Given the description of an element on the screen output the (x, y) to click on. 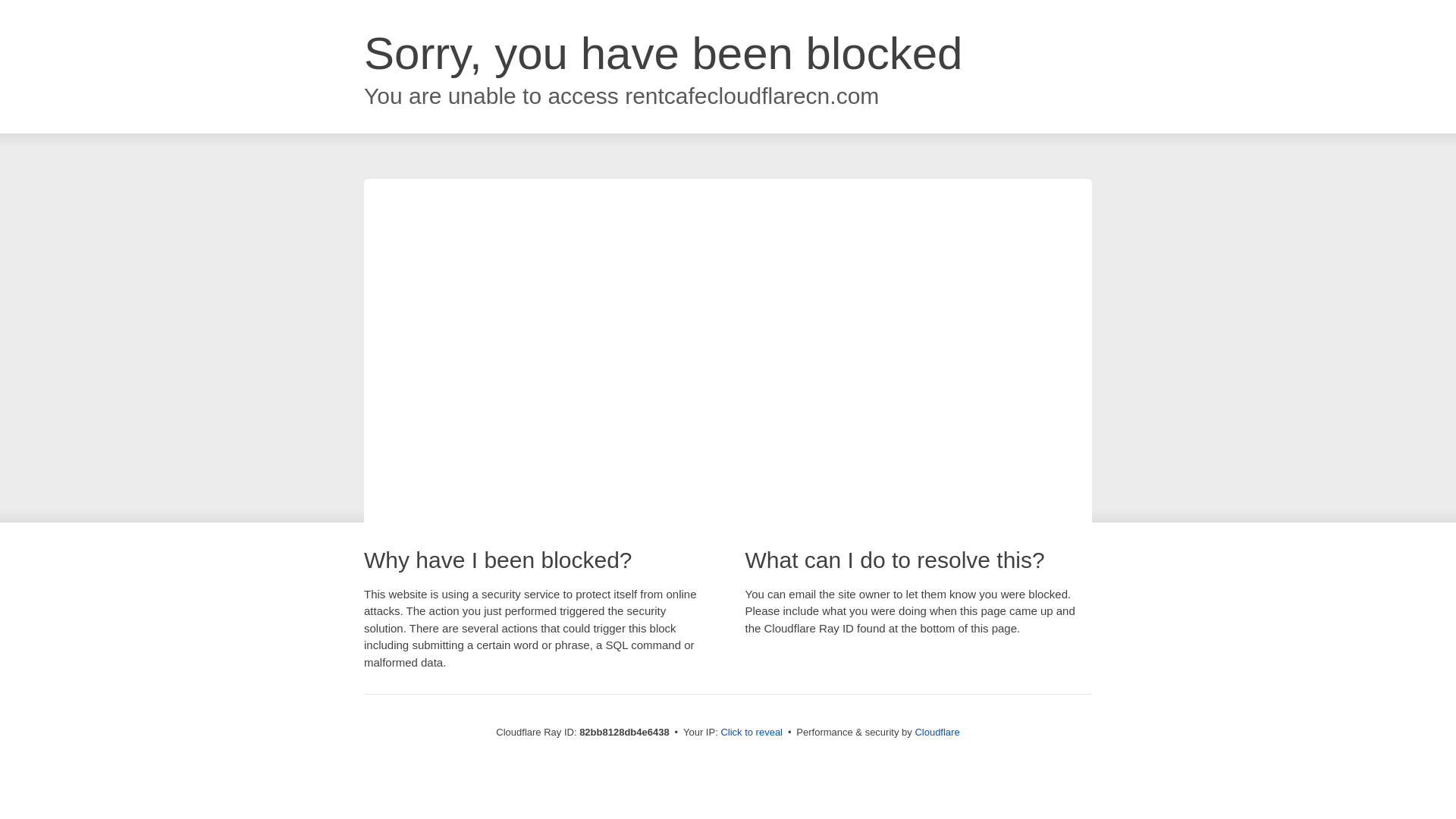
Click to reveal Element type: text (751, 732)
Cloudflare Element type: text (936, 731)
